Given the description of an element on the screen output the (x, y) to click on. 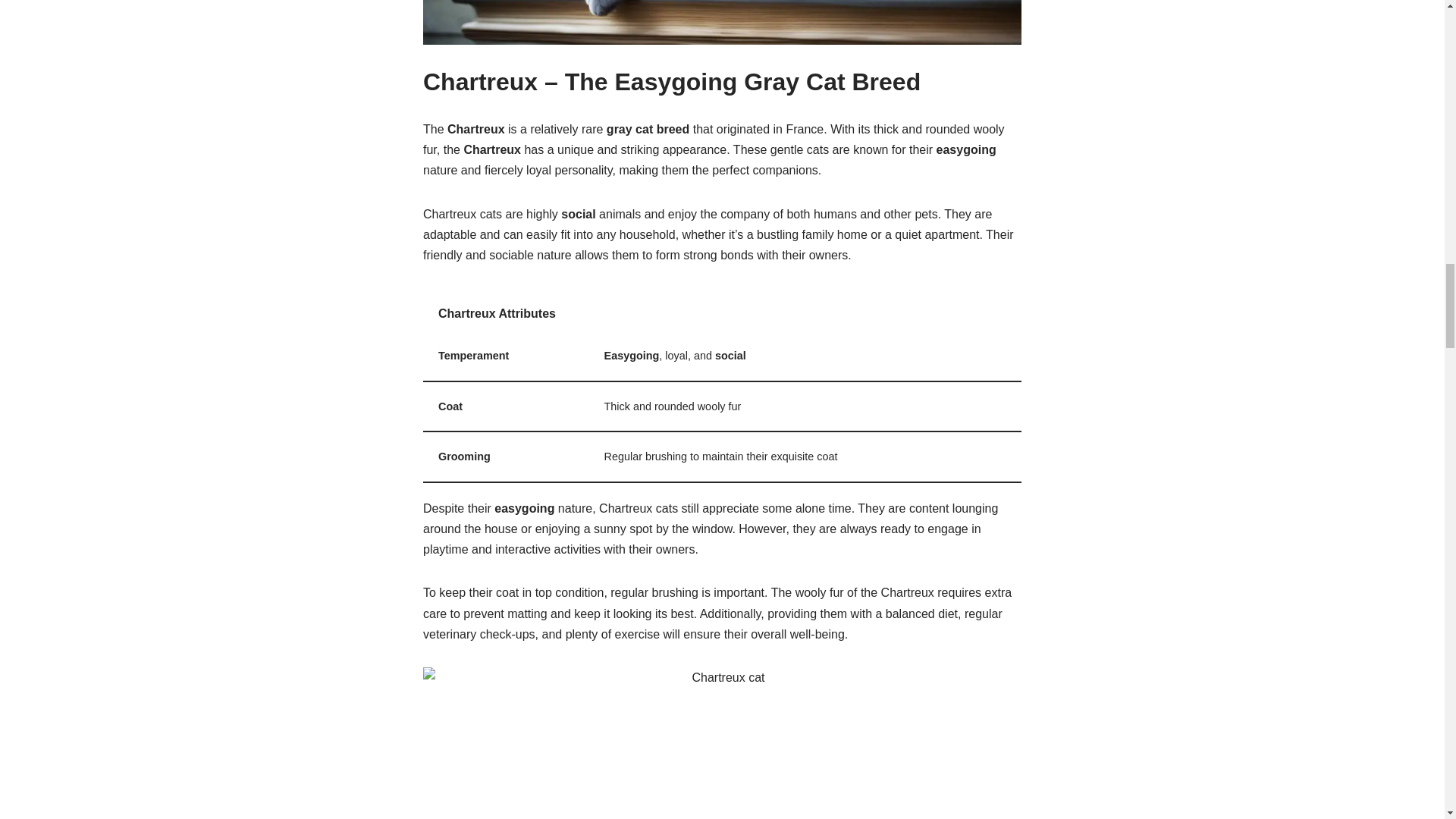
Russian Blue (722, 22)
Chartreux cat (722, 743)
